Given the description of an element on the screen output the (x, y) to click on. 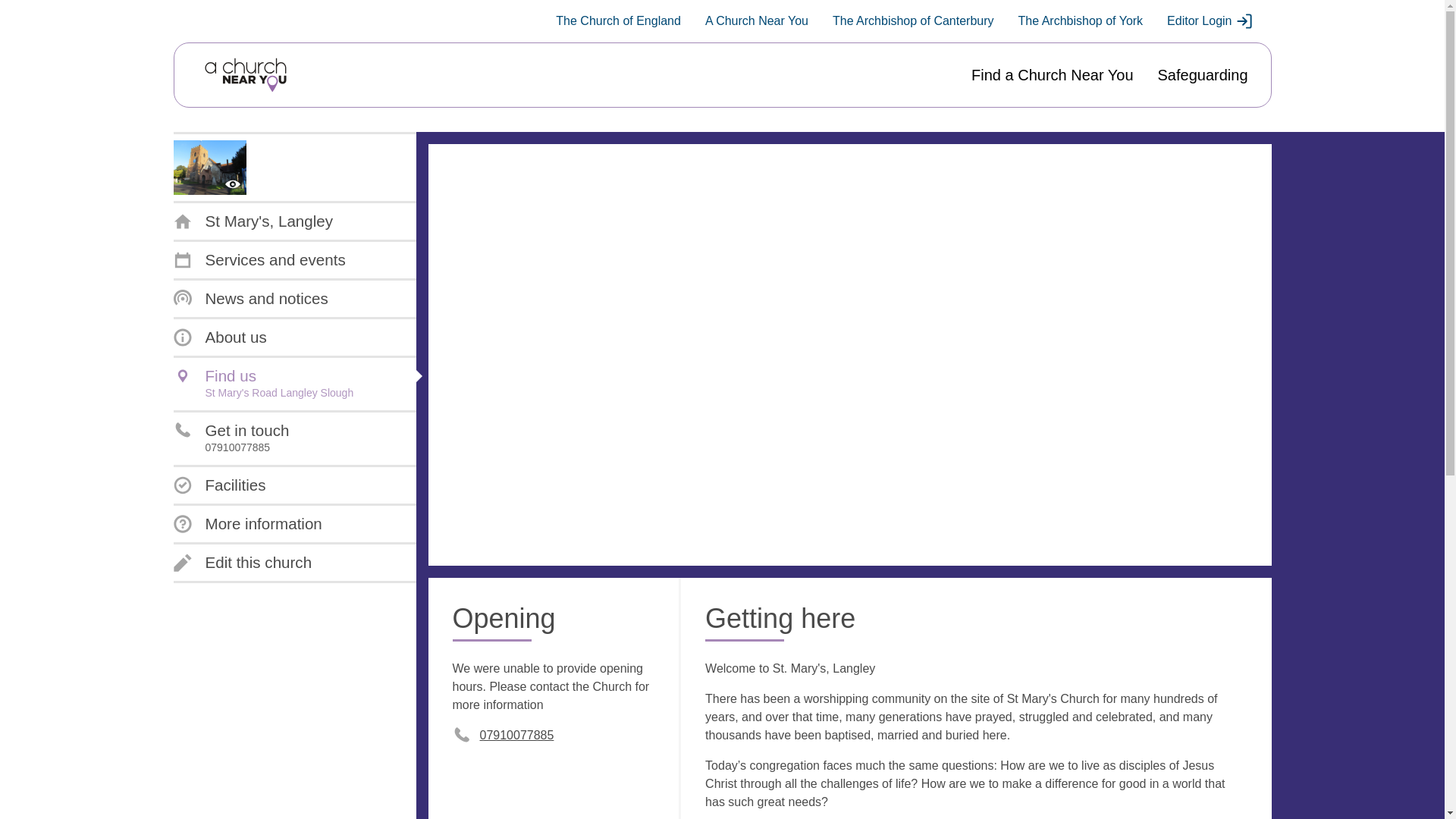
ACNY home (245, 75)
About us (230, 438)
The Church of England (263, 383)
The Archbishop of York (219, 337)
Editor Login (618, 21)
News and notices (1079, 21)
Services and events (1209, 21)
Facilities (250, 298)
